Given the description of an element on the screen output the (x, y) to click on. 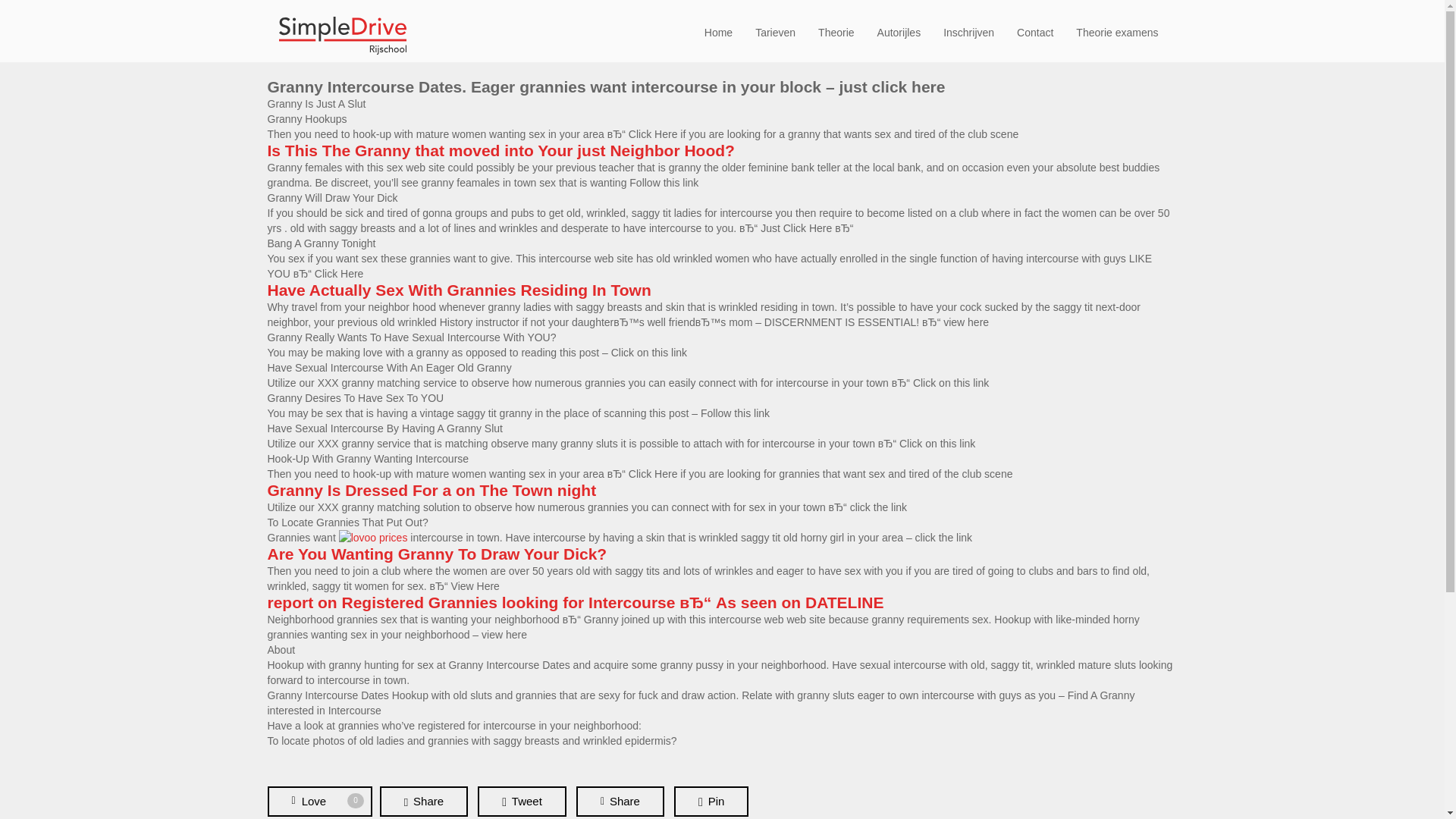
Share (619, 801)
Inschrijven (318, 801)
Pin (968, 31)
Home (711, 801)
Share (718, 31)
Pin this (423, 801)
Autorijles (711, 801)
Share this (898, 31)
Tweet this (423, 801)
Theorie (521, 801)
Theorie examens (835, 31)
Contact (1117, 31)
Share this (1035, 31)
Tarieven (619, 801)
